Given the description of an element on the screen output the (x, y) to click on. 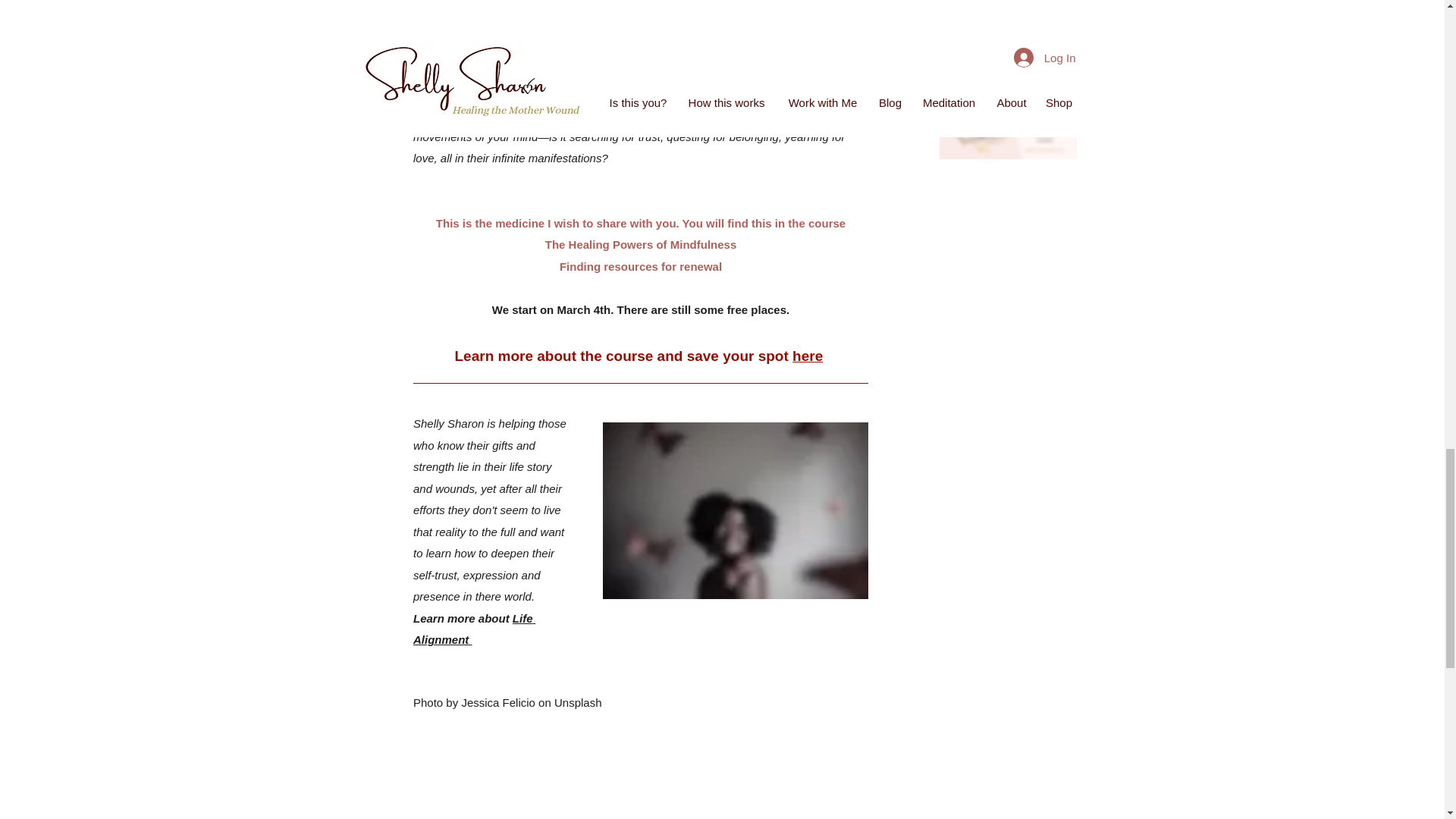
Unsplash (577, 702)
Jessica Felicio (498, 702)
Life Alignment  (473, 629)
here (807, 355)
